Given the description of an element on the screen output the (x, y) to click on. 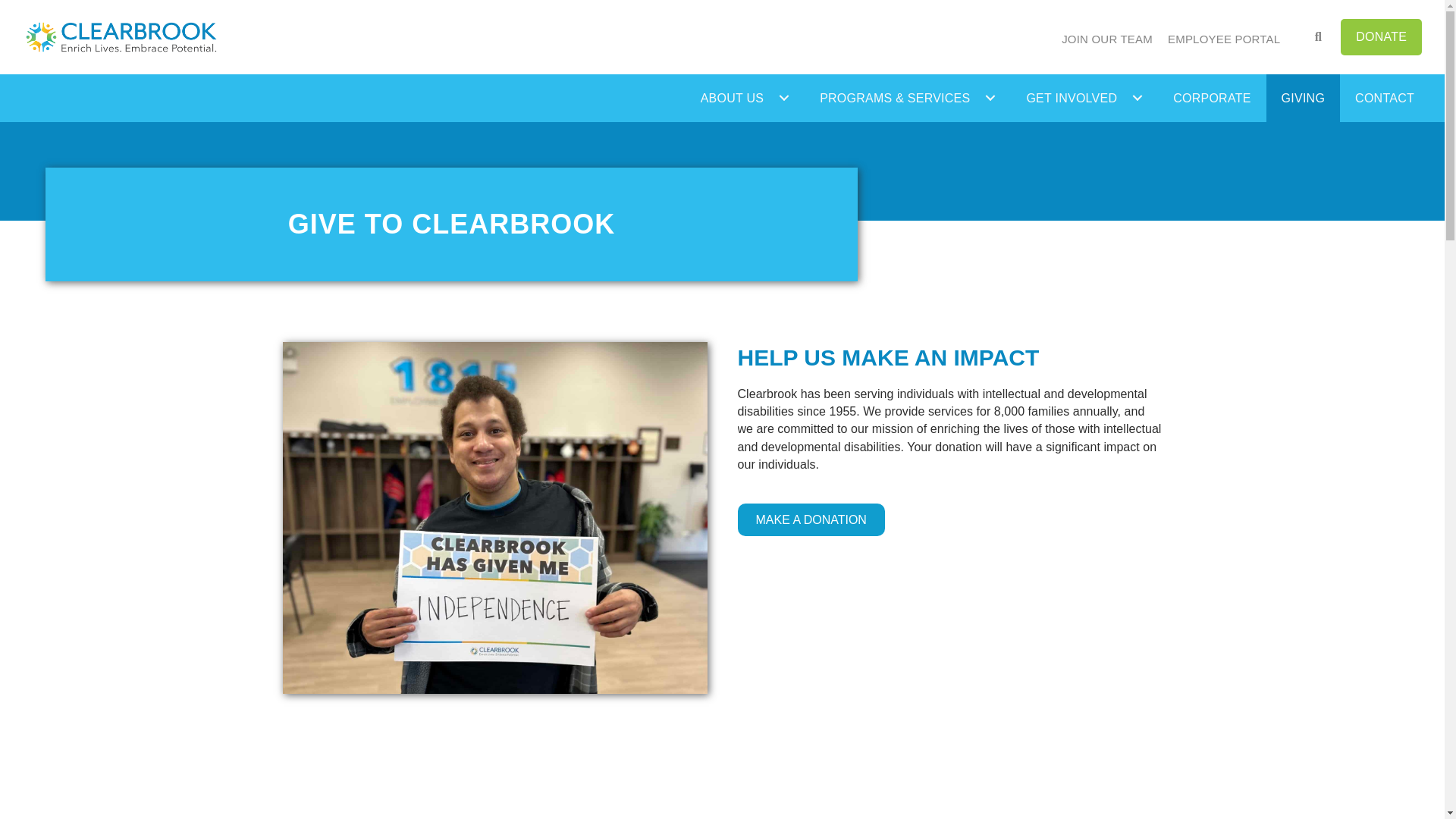
JOIN OUR TEAM (1107, 39)
Clearbrooklogo (121, 36)
EMPLOYEE PORTAL (1223, 39)
